Given the description of an element on the screen output the (x, y) to click on. 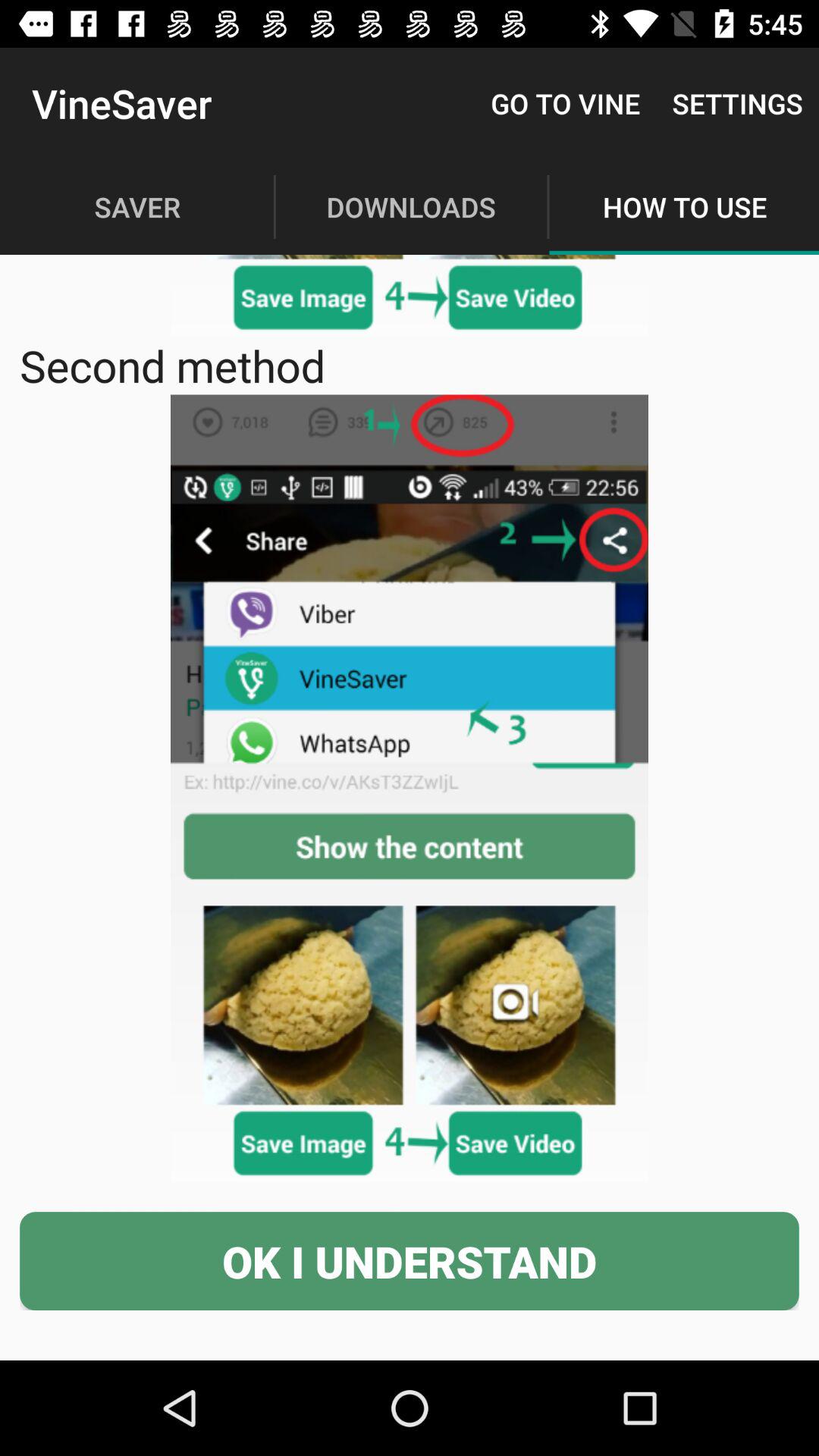
turn off the go to vine icon (565, 103)
